Given the description of an element on the screen output the (x, y) to click on. 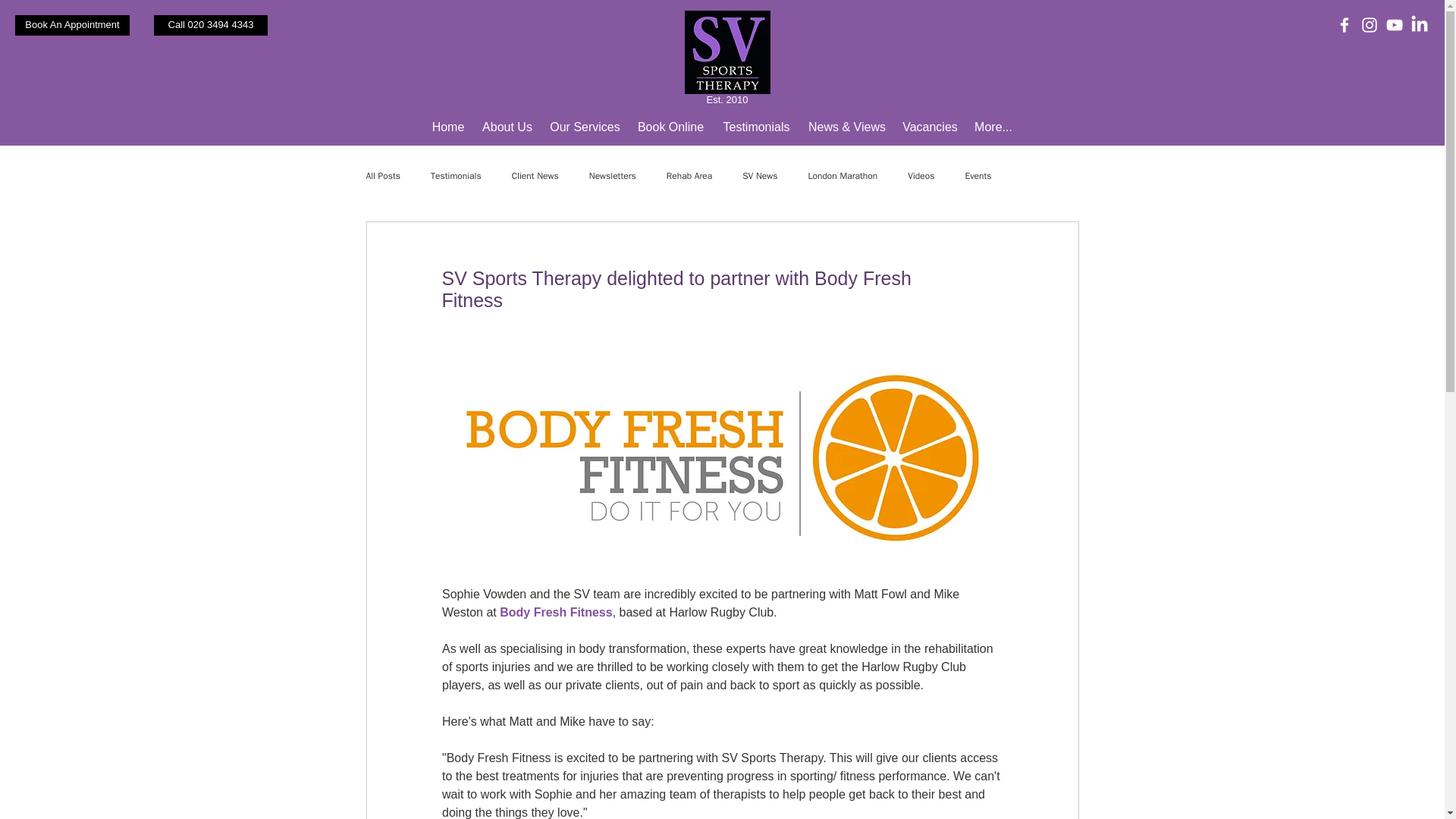
SV News (759, 175)
Home (448, 126)
Rehab Area (688, 175)
London Marathon (842, 175)
Newsletters (612, 175)
Testimonials (455, 175)
Events (977, 175)
Book An Appointment (71, 25)
All Posts (382, 175)
Book Online (670, 126)
